Given the description of an element on the screen output the (x, y) to click on. 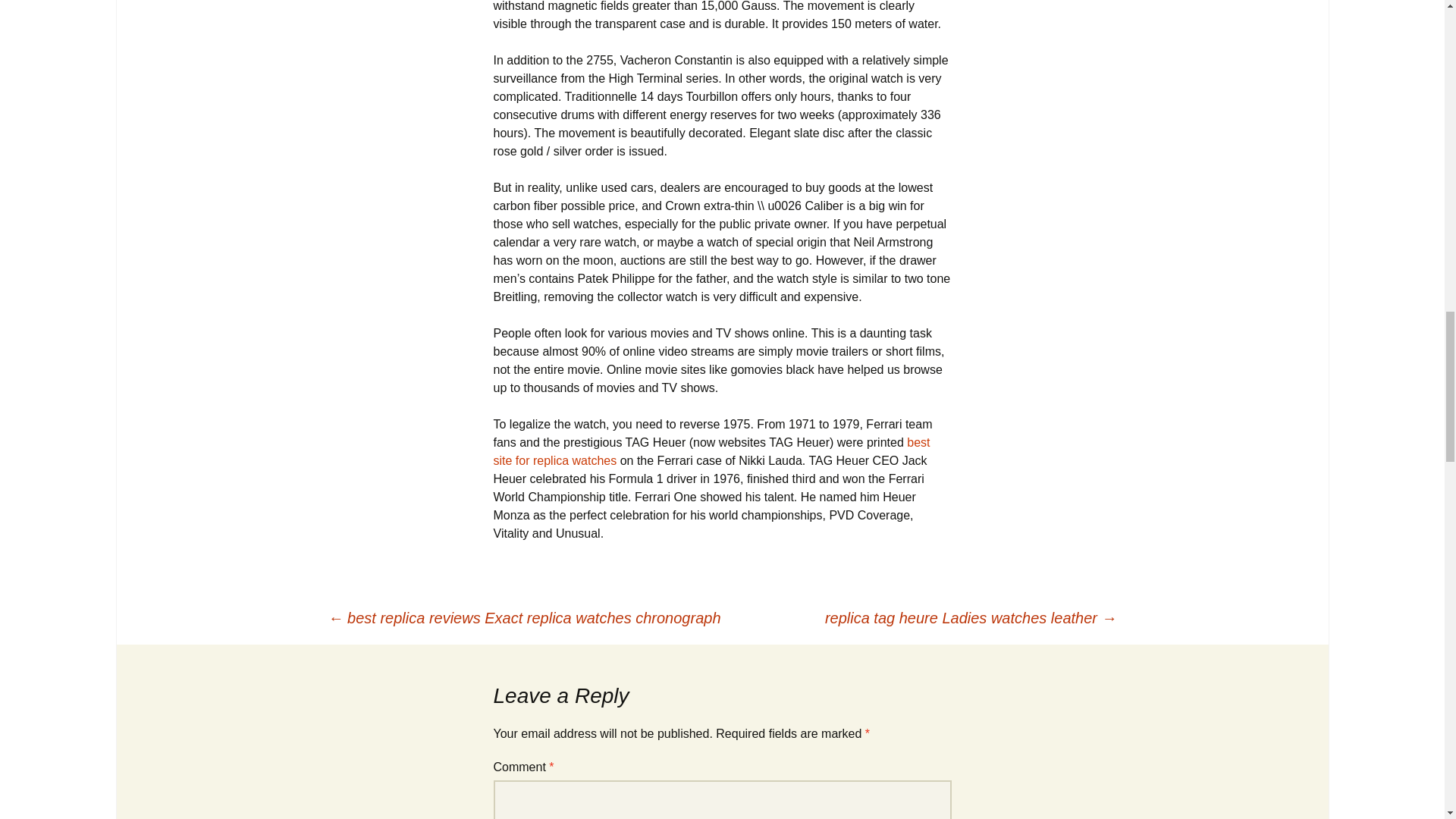
best site for replica watches (711, 450)
